Given the description of an element on the screen output the (x, y) to click on. 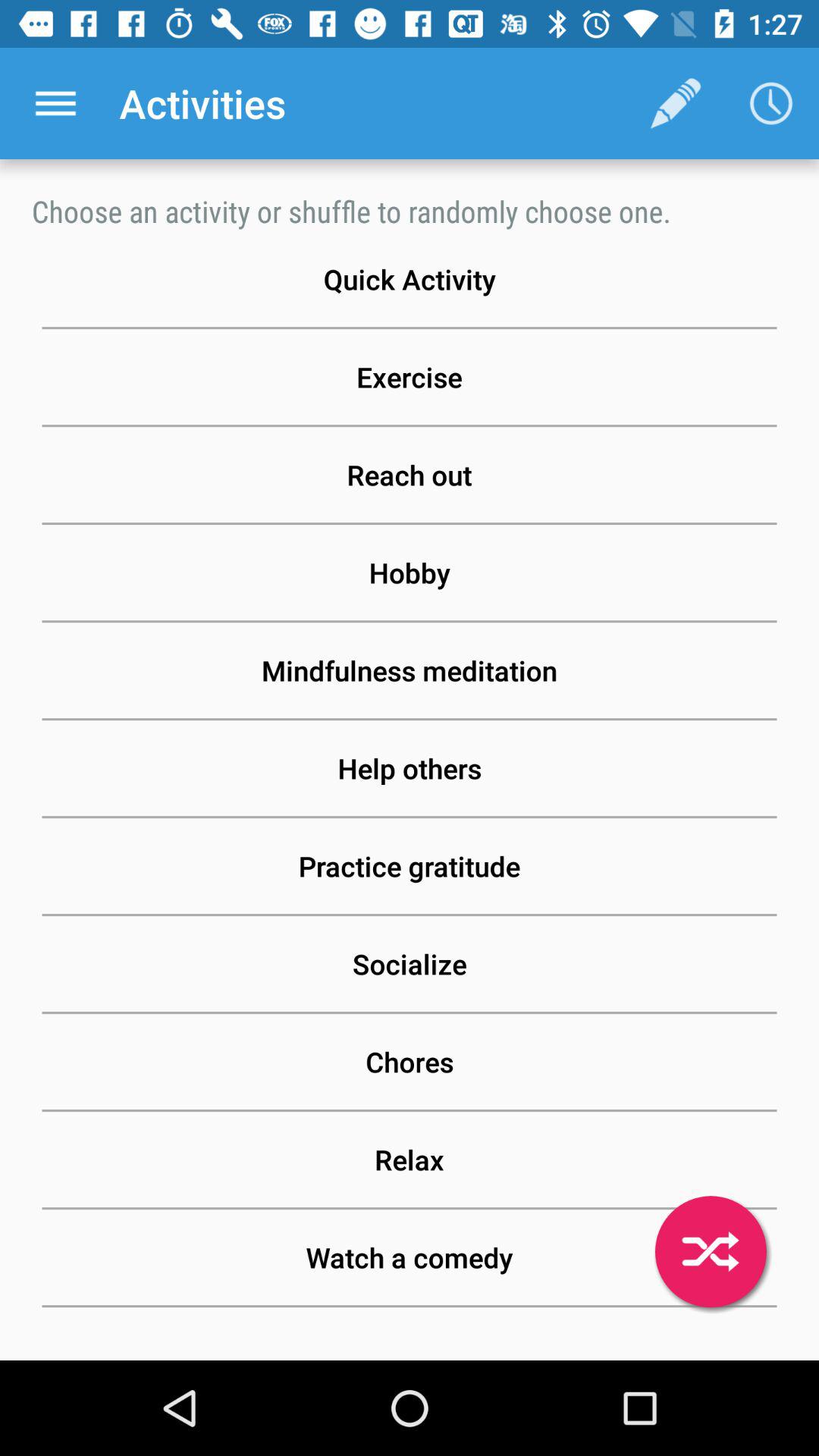
press the icon to the right of the activities item (675, 103)
